Given the description of an element on the screen output the (x, y) to click on. 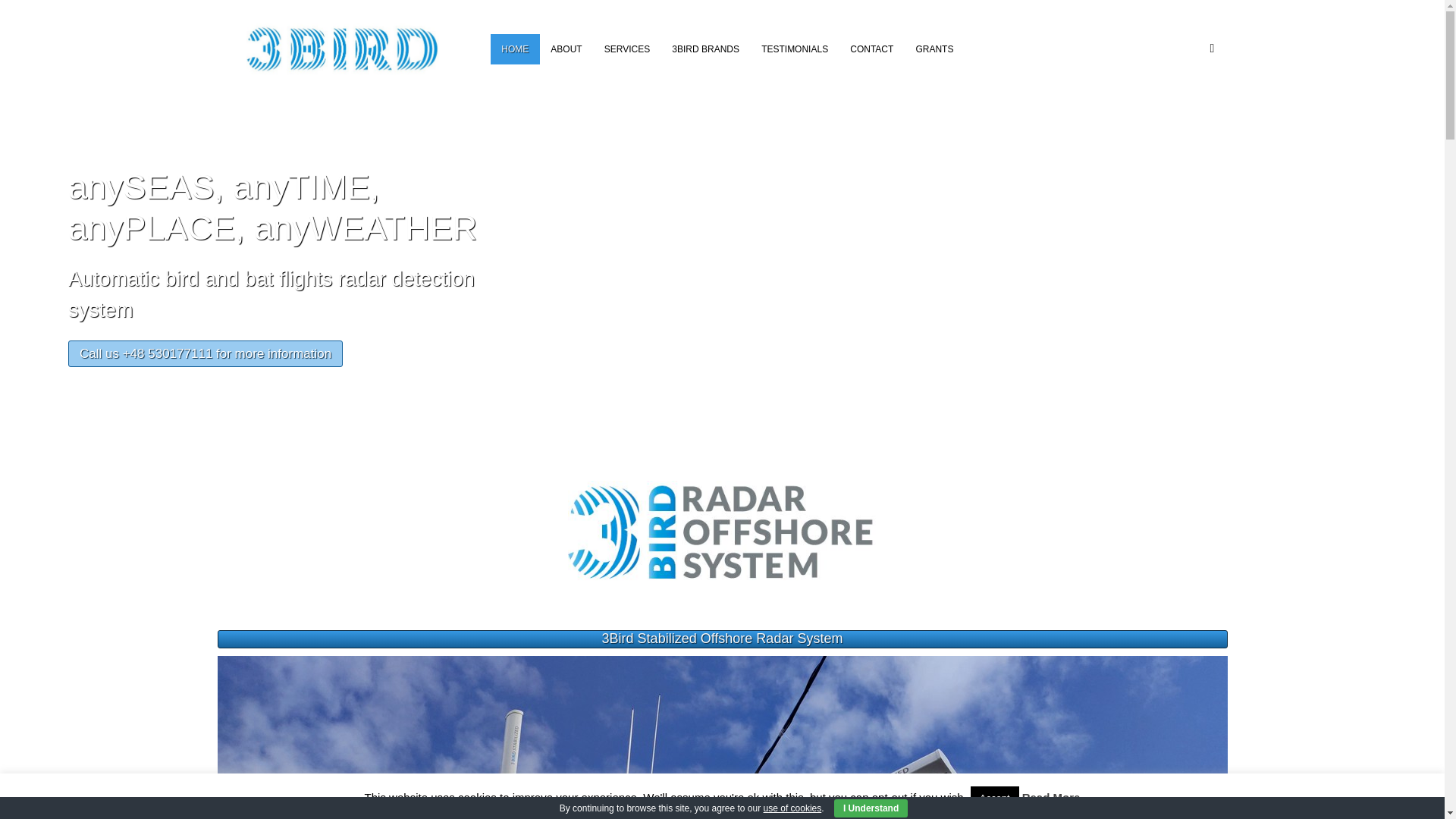
ABOUT Element type: text (566, 49)
3BIRD BRANDS Element type: text (705, 49)
CONTACT Element type: text (871, 49)
use of cookies Element type: text (792, 808)
Accept Element type: text (994, 797)
GRANTS Element type: text (934, 49)
TESTIMONIALS Element type: text (794, 49)
SERVICES Element type: text (627, 49)
Read More Element type: text (1051, 796)
HOME Element type: text (514, 49)
Call us +48 530177111 for more information Element type: text (205, 353)
I Understand Element type: text (870, 808)
3Bird Stabilized Offshore Radar System Element type: text (722, 638)
